Given the description of an element on the screen output the (x, y) to click on. 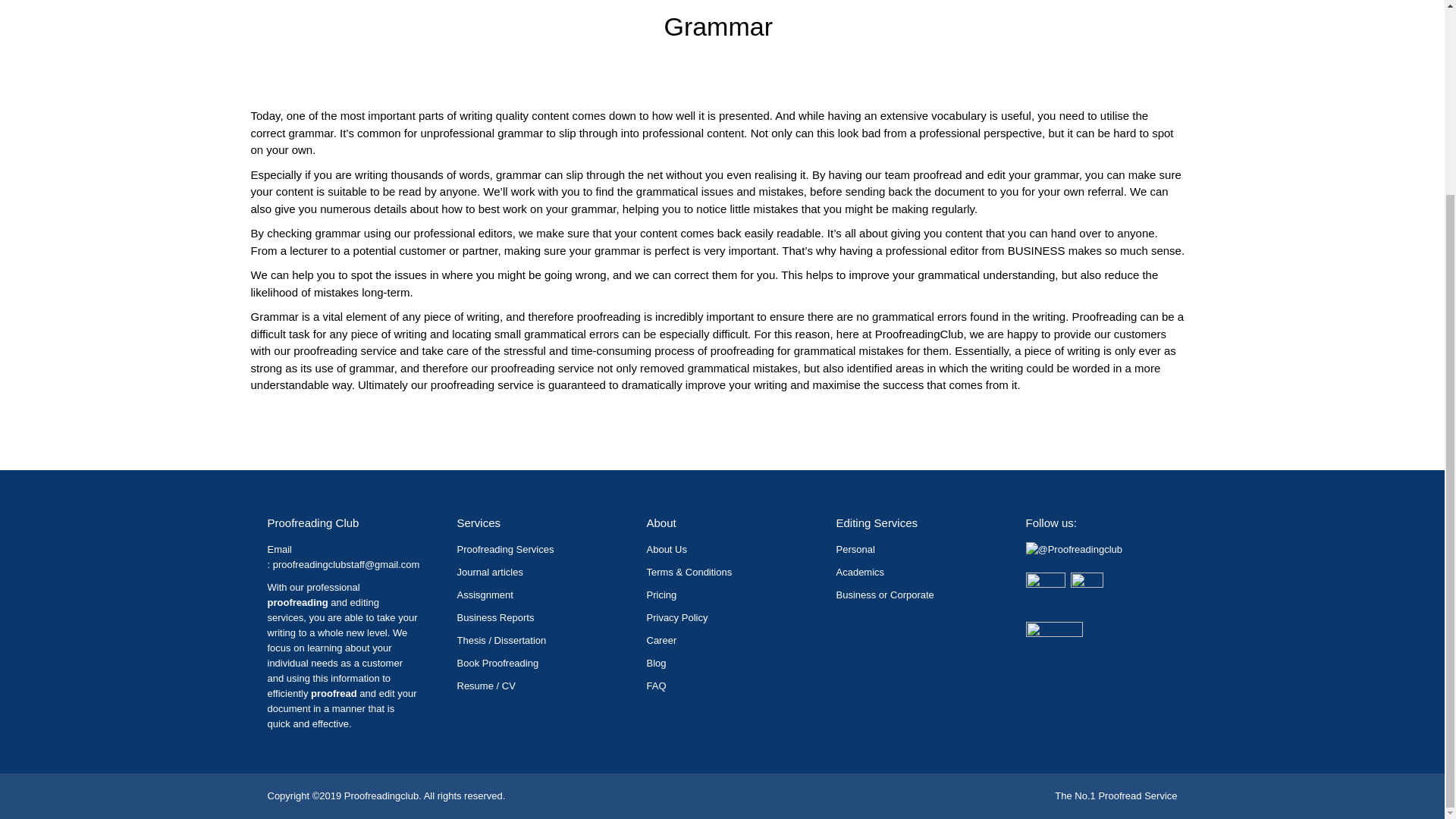
Assisgnment (484, 594)
Business or Corporate (884, 594)
Career (661, 640)
Blog (655, 663)
Business Reports (495, 617)
About Us (665, 549)
Proofreading Services (505, 549)
Privacy Policy (676, 617)
Journal articles (489, 572)
FAQ (655, 685)
Academics (859, 572)
Personal (855, 549)
Pricing (661, 594)
Book Proofreading (497, 663)
